Given the description of an element on the screen output the (x, y) to click on. 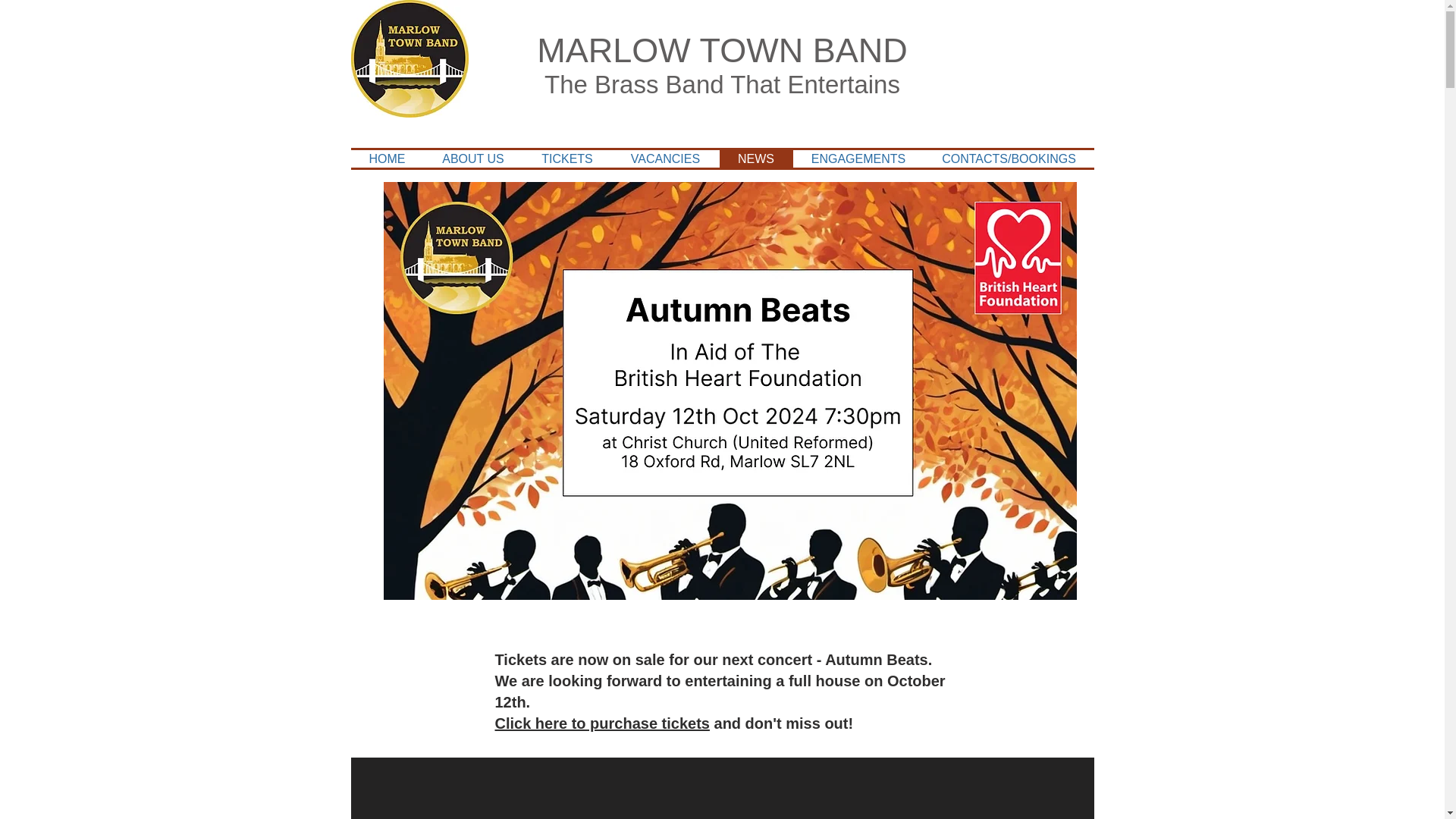
ENGAGEMENTS (858, 158)
MARLOW TOWN BAND (722, 50)
ABOUT US (472, 158)
Click here to purchase tickets (602, 723)
NEWS (755, 158)
VACANCIES (665, 158)
HOME (386, 158)
TICKETS (566, 158)
